Given the description of an element on the screen output the (x, y) to click on. 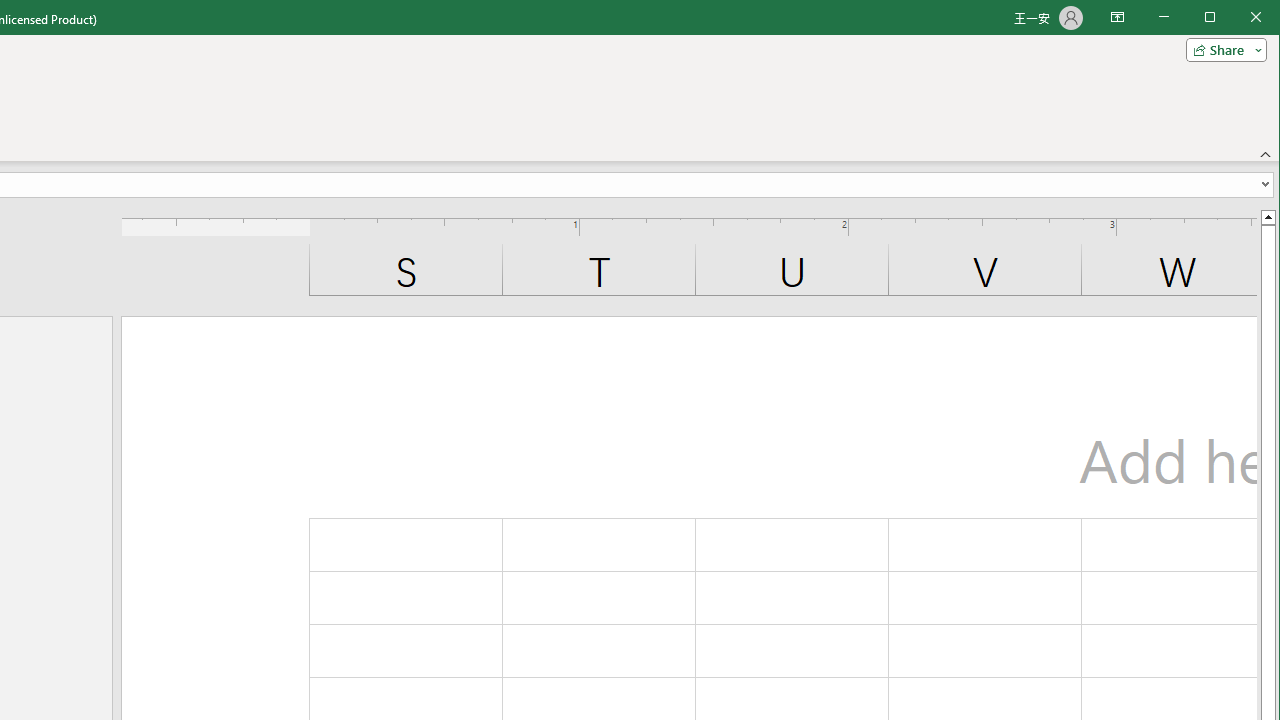
Maximize (1238, 18)
